Given the description of an element on the screen output the (x, y) to click on. 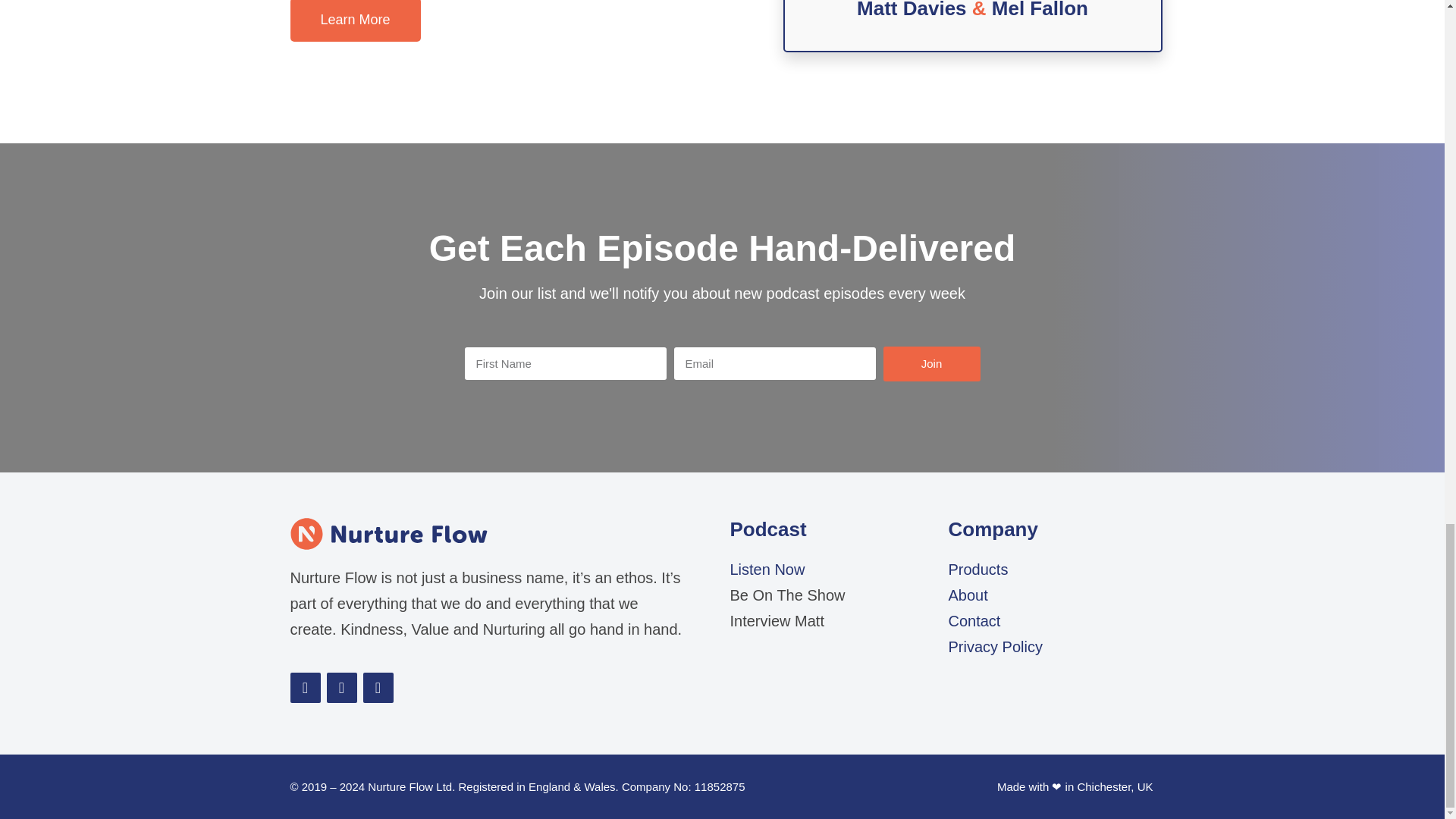
Twitter (341, 687)
About (967, 595)
Facebook (304, 687)
Instagram (377, 687)
Privacy Policy (994, 646)
Products (977, 569)
Contact (973, 620)
Learn More (354, 20)
Join (930, 363)
Listen Now (767, 569)
